Given the description of an element on the screen output the (x, y) to click on. 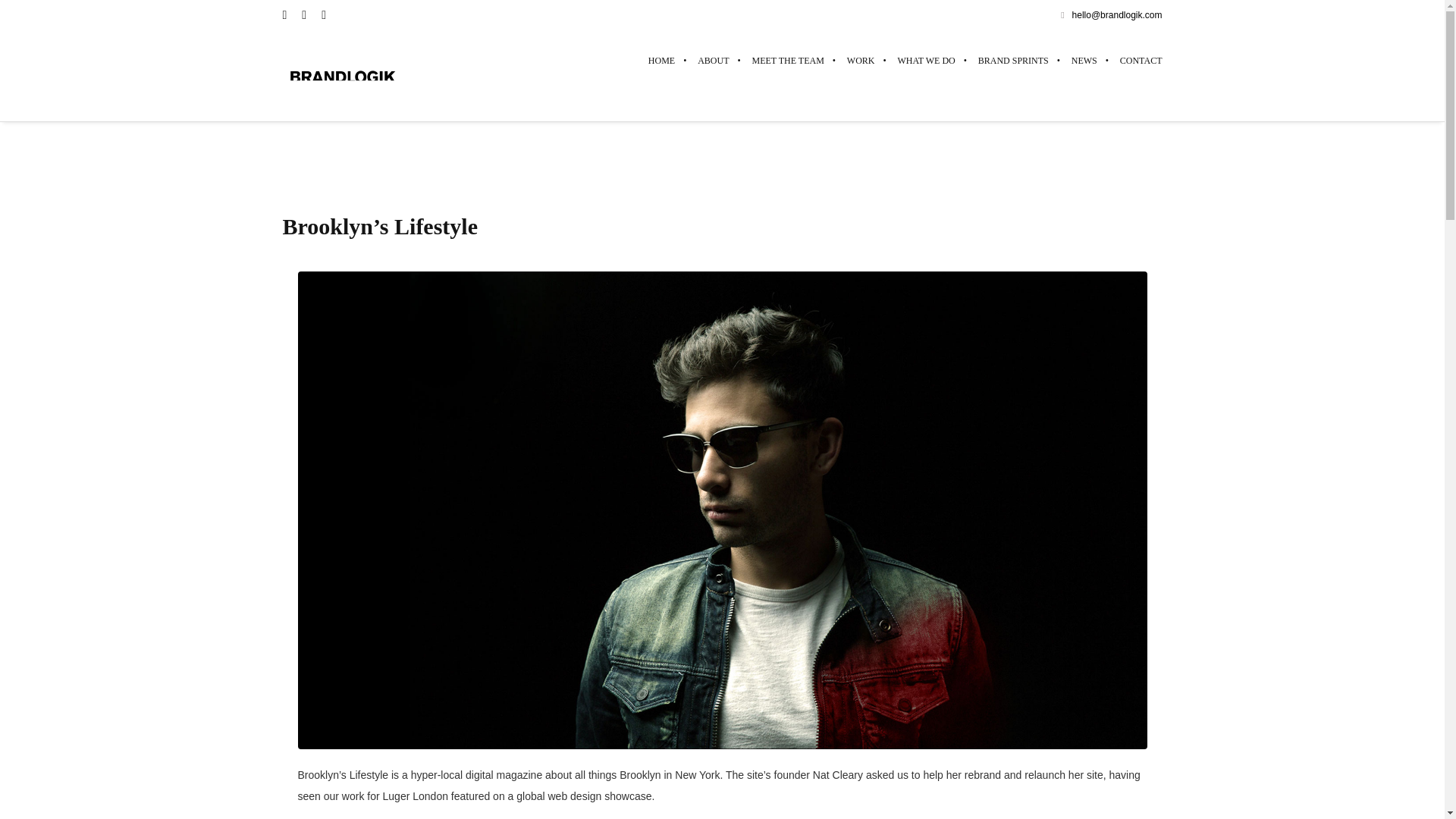
MEET THE TEAM (788, 60)
WHAT WE DO (926, 60)
BRAND SPRINTS (1012, 60)
